Given the description of an element on the screen output the (x, y) to click on. 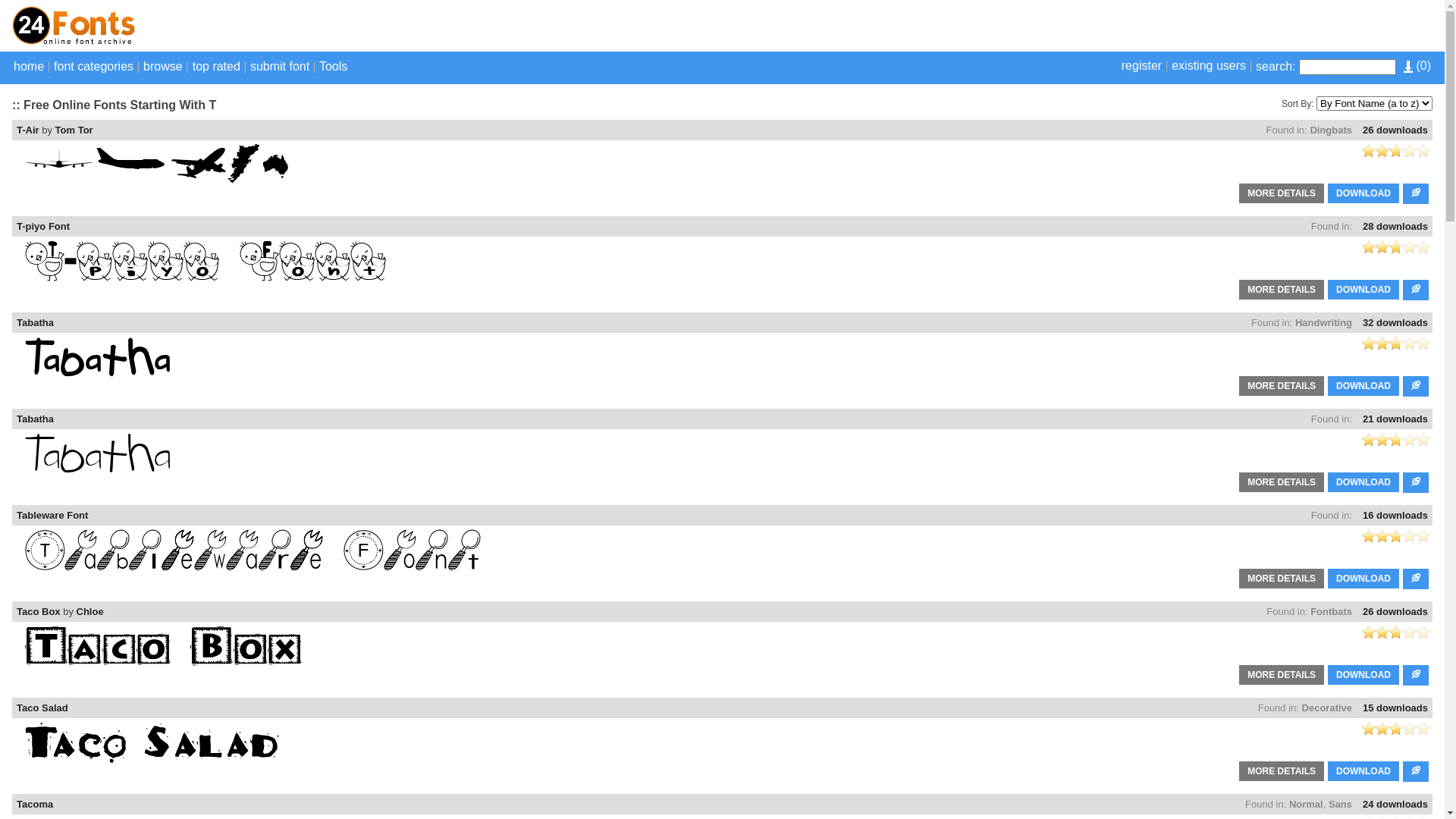
DOWNLOAD Element type: text (1363, 771)
Tabatha Element type: text (34, 418)
MORE DETAILS Element type: text (1281, 674)
Tableware Font Element type: text (51, 514)
MORE DETAILS Element type: text (1281, 289)
15 downloads Element type: text (1394, 707)
Tacoma Element type: text (34, 803)
16 downloads Element type: text (1394, 514)
existing users Element type: text (1208, 65)
Dingbats Element type: text (1330, 129)
T-Air Element type: text (27, 129)
Add to download queue Element type: hover (1415, 386)
MORE DETAILS Element type: text (1281, 674)
Taco Box Element type: text (38, 611)
MORE DETAILS Element type: text (1281, 771)
DOWNLOAD Element type: text (1363, 289)
MORE DETAILS Element type: text (1281, 578)
Search Element type: text (45, 7)
MORE DETAILS Element type: text (1281, 770)
DOWNLOAD Element type: text (1363, 193)
Add to download queue Element type: hover (1415, 675)
Fontbats Element type: text (1331, 611)
Sans Element type: text (1340, 803)
register Element type: text (1141, 65)
DOWNLOAD Element type: text (1363, 385)
MORE DETAILS Element type: text (1281, 578)
24 downloads Element type: text (1394, 803)
DOWNLOAD Element type: text (1363, 674)
Tools Element type: text (333, 65)
Add to download queue Element type: hover (1415, 578)
MORE DETAILS Element type: text (1281, 193)
Tom Tor Element type: text (74, 129)
Taco Salad Element type: text (42, 707)
Go to download queue Element type: hover (1407, 66)
DOWNLOAD Element type: text (1363, 193)
Handwriting Element type: text (1323, 322)
top rated Element type: text (216, 65)
MORE DETAILS Element type: text (1281, 481)
MORE DETAILS Element type: text (1281, 289)
26 downloads Element type: text (1394, 611)
submit font Element type: text (279, 65)
(0) Element type: text (1416, 65)
MORE DETAILS Element type: text (1281, 385)
home Element type: text (28, 65)
DOWNLOAD Element type: text (1363, 770)
Add to download queue Element type: hover (1415, 289)
26 downloads Element type: text (1394, 129)
Decorative Element type: text (1327, 707)
Add to download queue Element type: hover (1415, 193)
DOWNLOAD Element type: text (1363, 385)
DOWNLOAD Element type: text (1363, 482)
32 downloads Element type: text (1394, 322)
DOWNLOAD Element type: text (1363, 289)
Add to download queue Element type: hover (1415, 771)
DOWNLOAD Element type: text (1363, 578)
21 downloads Element type: text (1394, 418)
28 downloads Element type: text (1394, 226)
MORE DETAILS Element type: text (1281, 385)
Chloe Element type: text (89, 611)
Tabatha Element type: text (34, 322)
T-piyo Font Element type: text (42, 226)
browse Element type: text (162, 65)
MORE DETAILS Element type: text (1281, 482)
font categories Element type: text (93, 65)
Normal Element type: text (1306, 803)
DOWNLOAD Element type: text (1363, 674)
DOWNLOAD Element type: text (1363, 578)
MORE DETAILS Element type: text (1281, 193)
DOWNLOAD Element type: text (1363, 481)
Add to download queue Element type: hover (1415, 482)
